Given the description of an element on the screen output the (x, y) to click on. 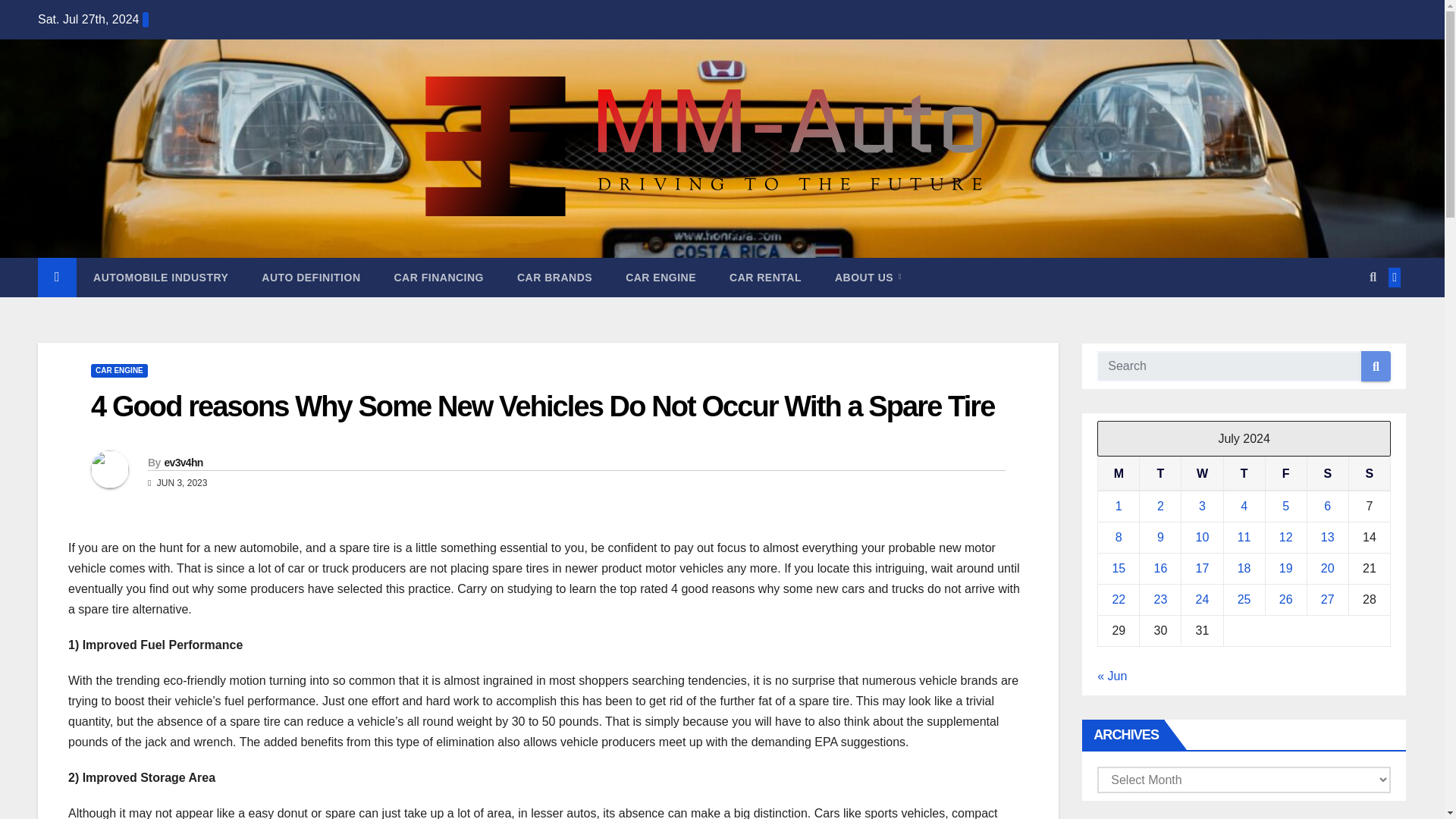
Automobile Industry (160, 277)
CAR ENGINE (660, 277)
CAR ENGINE (119, 370)
ABOUT US (868, 277)
CAR FINANCING (438, 277)
auto definition (310, 277)
Car Rental (765, 277)
Car Financing (438, 277)
Car Brands (554, 277)
About Us (868, 277)
CAR BRANDS (554, 277)
Car Engine (660, 277)
CAR RENTAL (765, 277)
AUTOMOBILE INDUSTRY (160, 277)
